Given the description of an element on the screen output the (x, y) to click on. 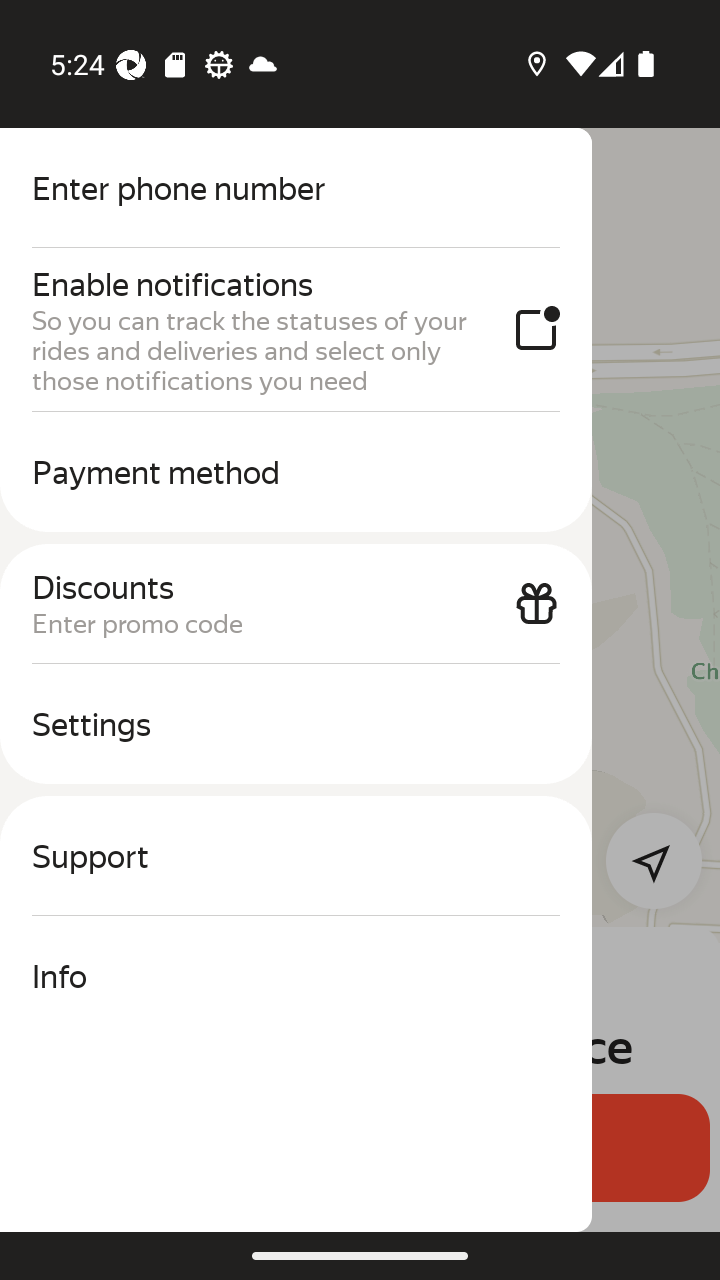
Enter phone number (295, 188)
Payment method (295, 472)
Settings (295, 723)
Support (295, 856)
Info (295, 975)
